Given the description of an element on the screen output the (x, y) to click on. 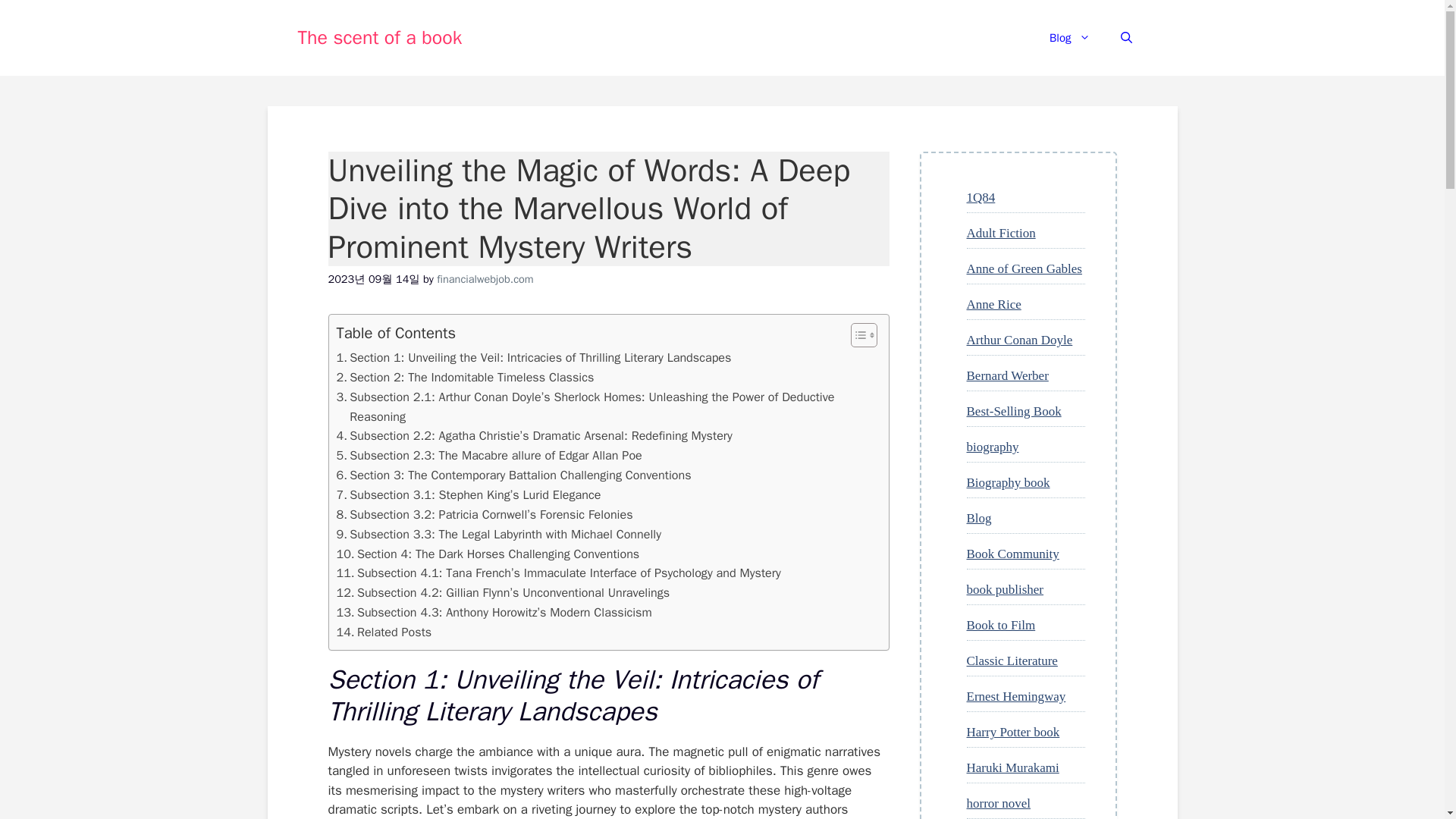
Related Posts (384, 632)
Anne of Green Gables (1023, 268)
Section 2: The Indomitable Timeless Classics (465, 377)
Bernard Werber (1007, 375)
Blog (1069, 37)
Subsection 2.3: The Macabre allure of Edgar Allan Poe (489, 455)
Related Posts (384, 632)
Subsection 3.3: The Legal Labyrinth with Michael Connelly (498, 534)
The scent of a book (379, 37)
Best-Selling Book (1013, 411)
Section 4: The Dark Horses Challenging Conventions (488, 554)
Section 2: The Indomitable Timeless Classics (465, 377)
Subsection 3.3: The Legal Labyrinth with Michael Connelly (498, 534)
View all posts by financialwebjob.com (484, 278)
